Given the description of an element on the screen output the (x, y) to click on. 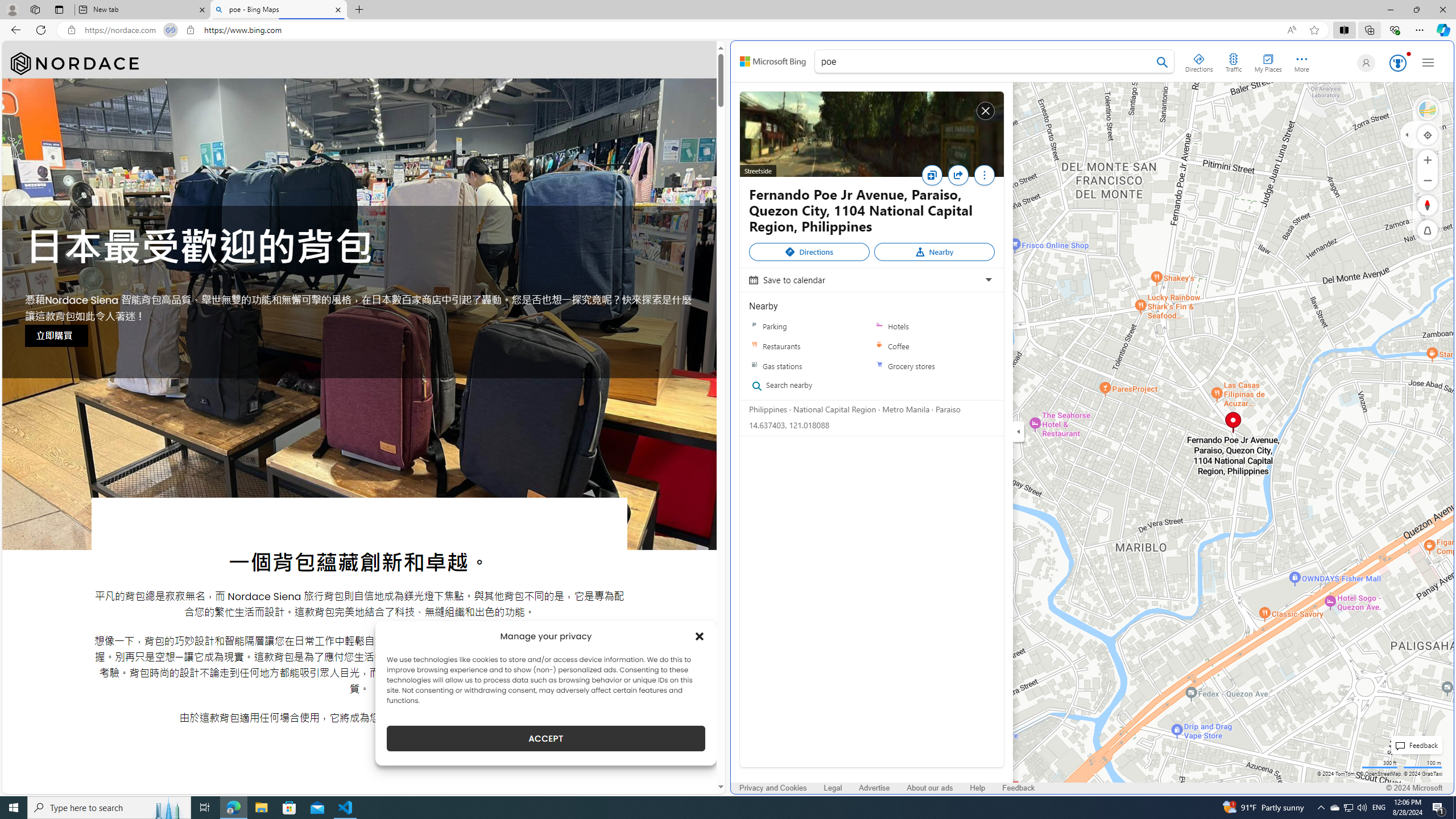
Grocery stores (933, 365)
Reset to Default Pitch (1427, 230)
Streetside (1427, 109)
Expand/Collapse Cards (1019, 431)
Reset to Default Rotation (1427, 204)
Settings and quick links (1428, 62)
Expand/Collapse Geochain (1406, 134)
poe - Bing Maps (277, 9)
Back to Bing search (772, 60)
